Given the description of an element on the screen output the (x, y) to click on. 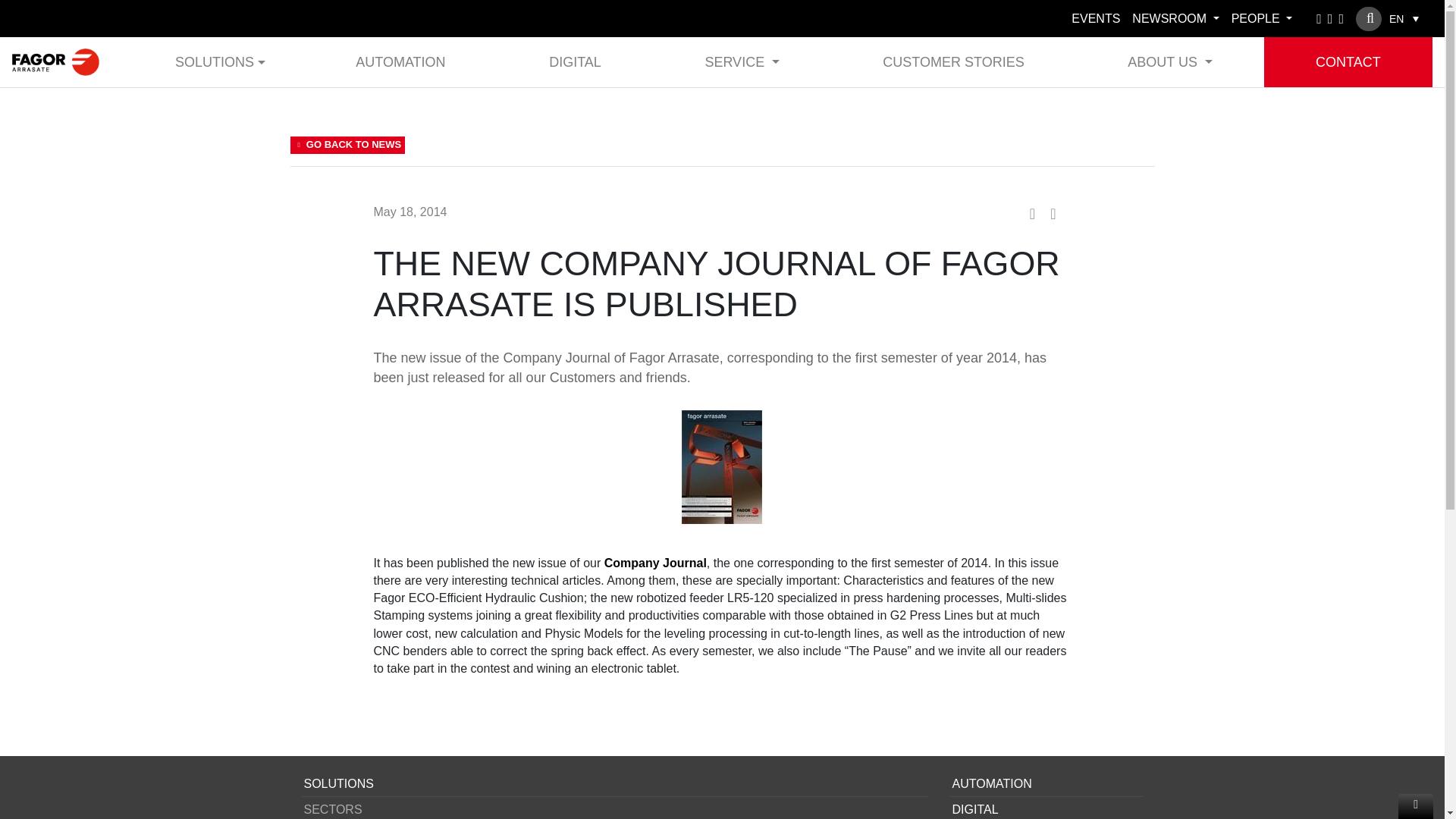
NEWSROOM (1174, 18)
PEOPLE (1261, 18)
EN (1403, 18)
EVENTS (1095, 18)
